Given the description of an element on the screen output the (x, y) to click on. 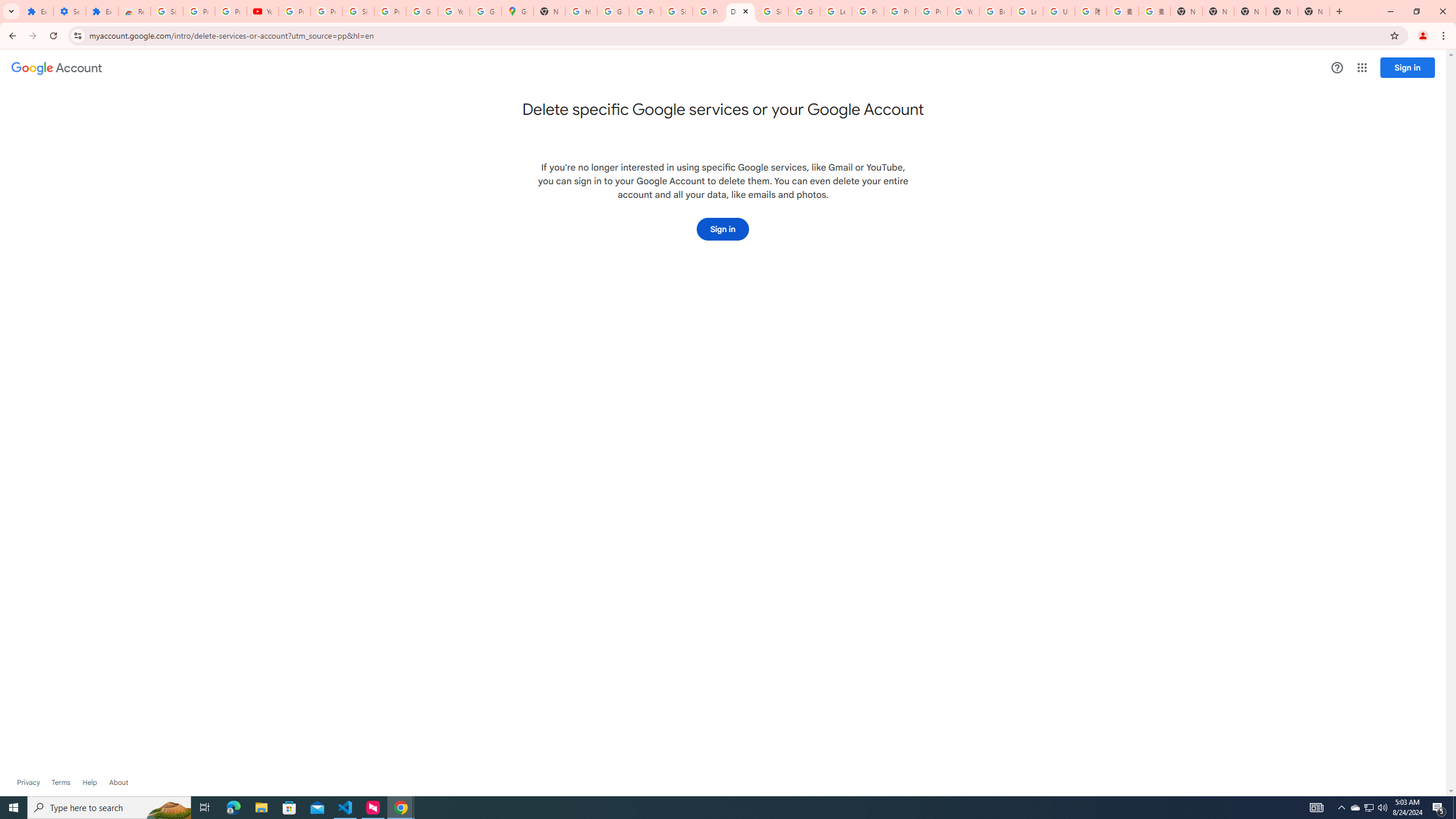
Address and search bar (735, 35)
Sign in - Google Accounts (358, 11)
Google apps (1362, 67)
Help (1336, 67)
Settings (69, 11)
Terms (61, 782)
